Given the description of an element on the screen output the (x, y) to click on. 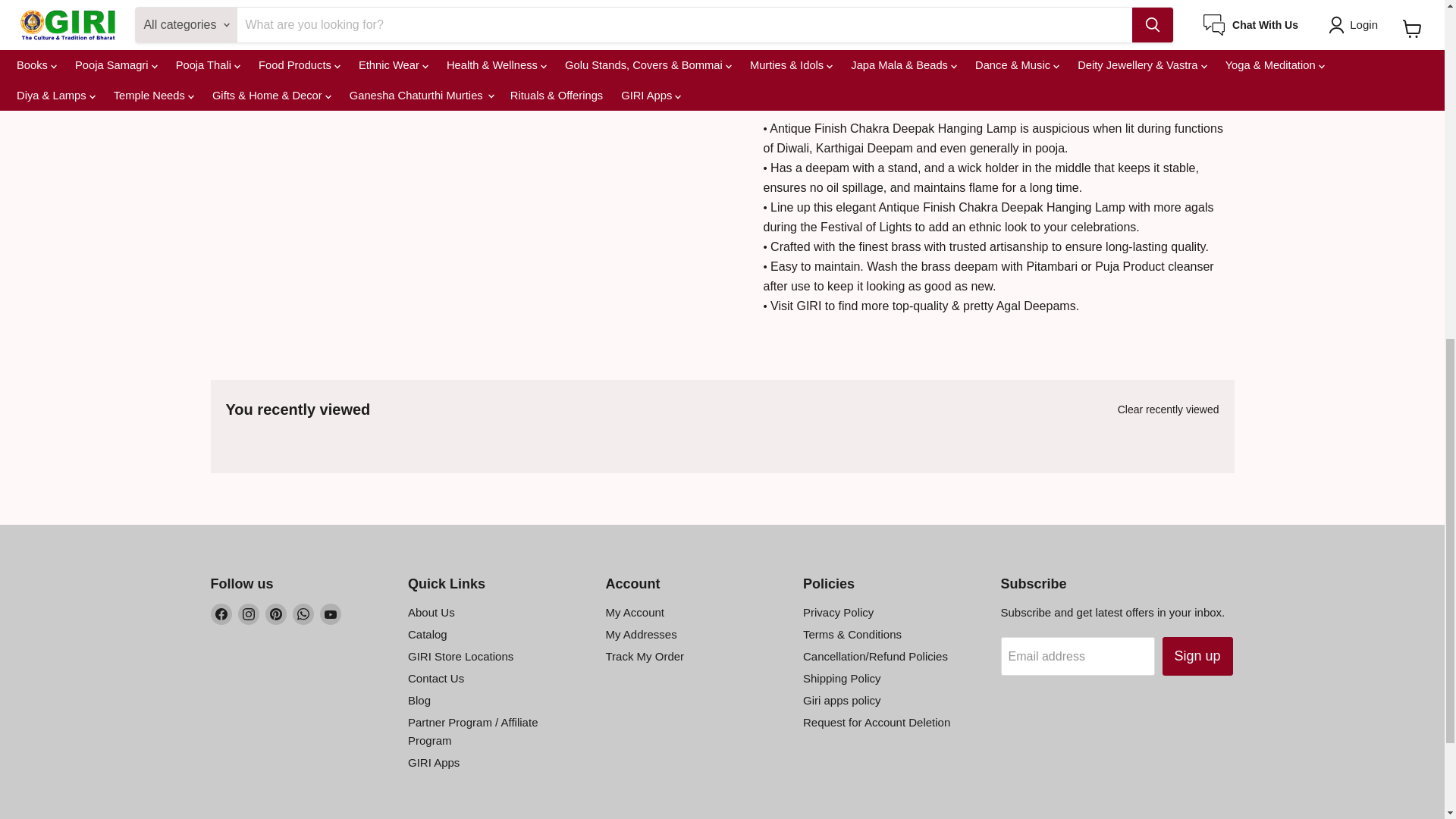
WhatsApp (303, 613)
YouTube (330, 613)
Facebook (221, 613)
Instagram (248, 613)
Pinterest (275, 613)
